Given the description of an element on the screen output the (x, y) to click on. 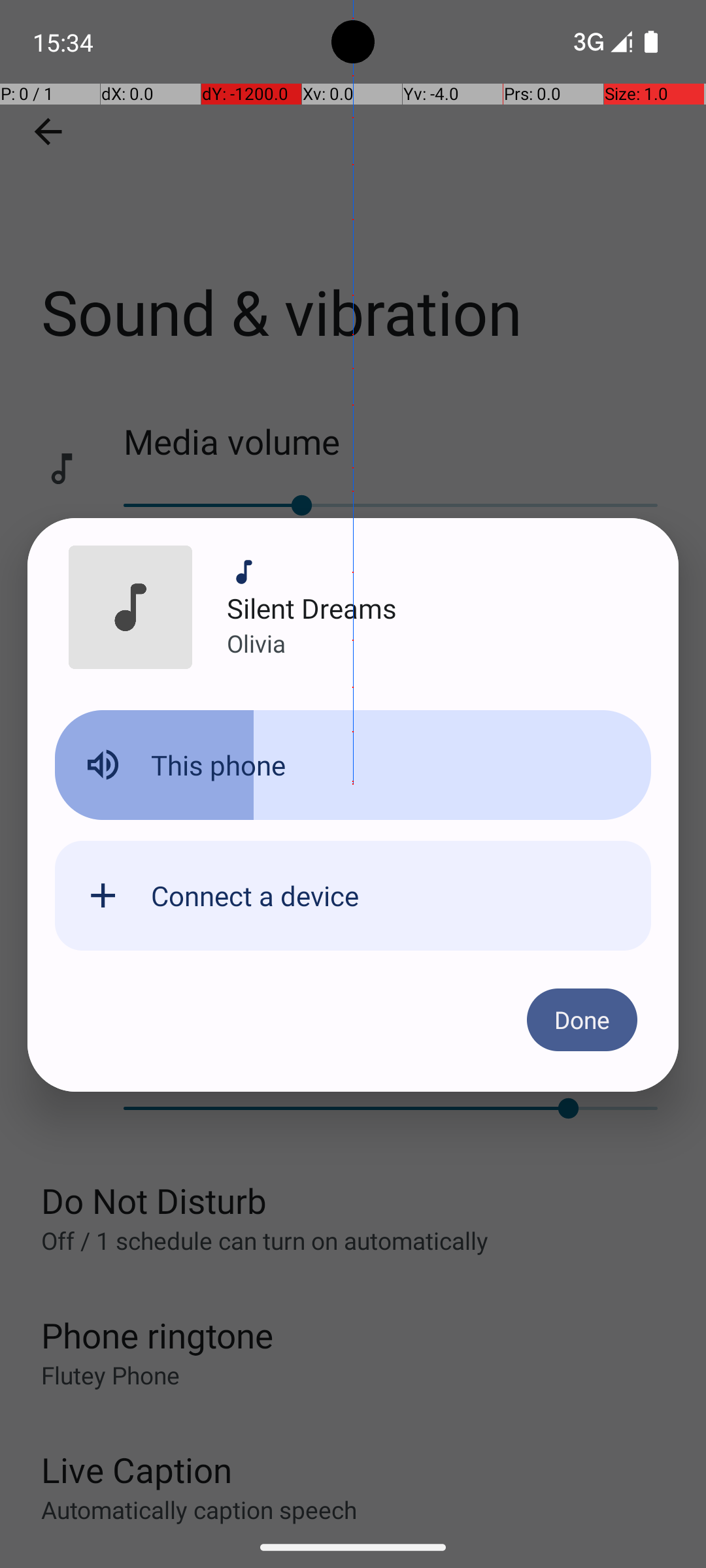
Silent Dreams Element type: android.widget.TextView (311, 607)
Olivia Element type: android.widget.TextView (255, 642)
Connected to This phone. Element type: android.widget.LinearLayout (352, 775)
Volume Element type: android.widget.SeekBar (352, 764)
This phone Element type: android.widget.TextView (218, 764)
Connect a device Element type: android.widget.TextView (254, 895)
